Given the description of an element on the screen output the (x, y) to click on. 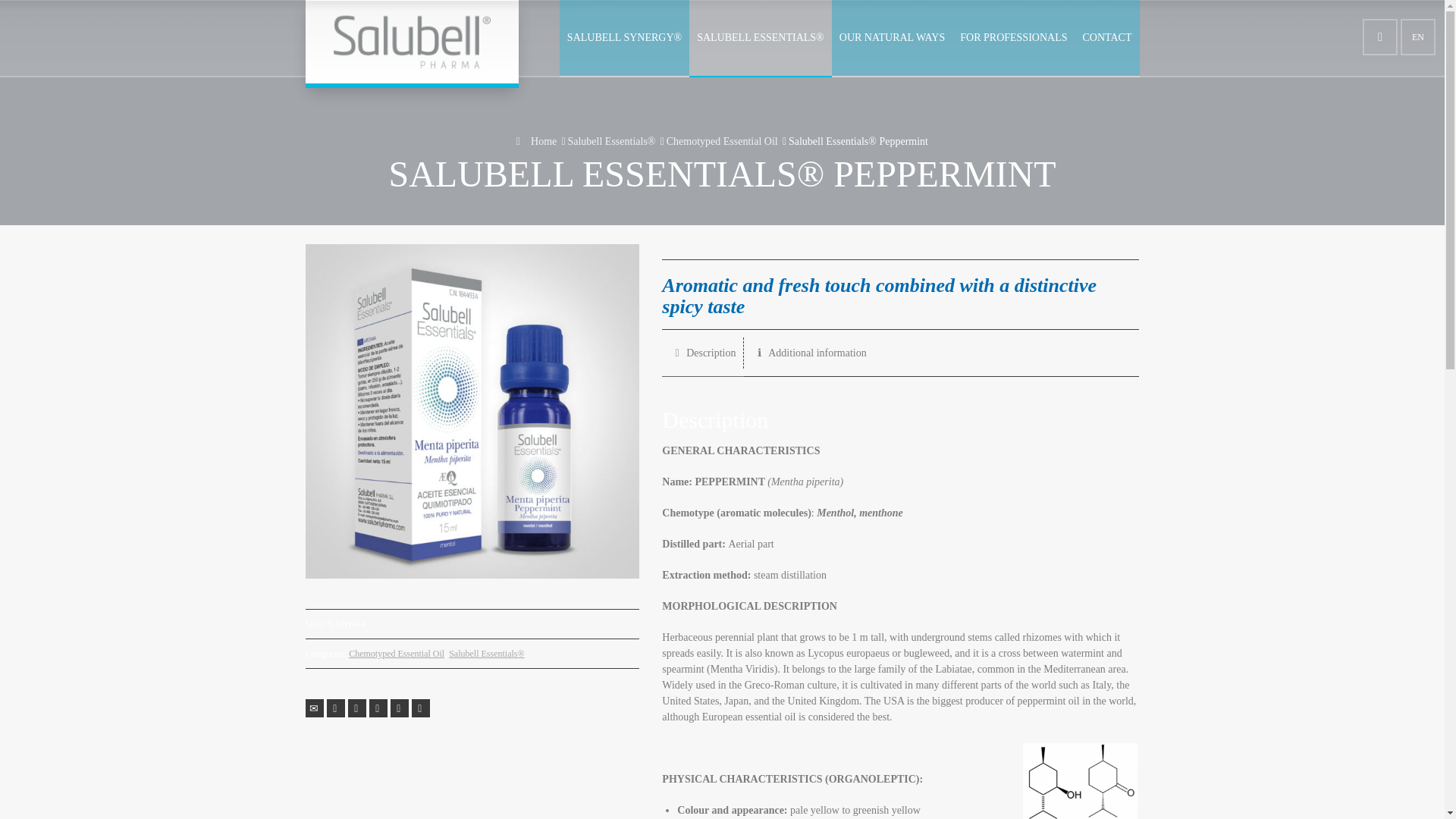
Search (1380, 36)
Pinterest (377, 708)
Email (313, 708)
Salubell Pharma (411, 41)
Facebook (356, 708)
Twitter (334, 708)
Languages (1418, 36)
